Given the description of an element on the screen output the (x, y) to click on. 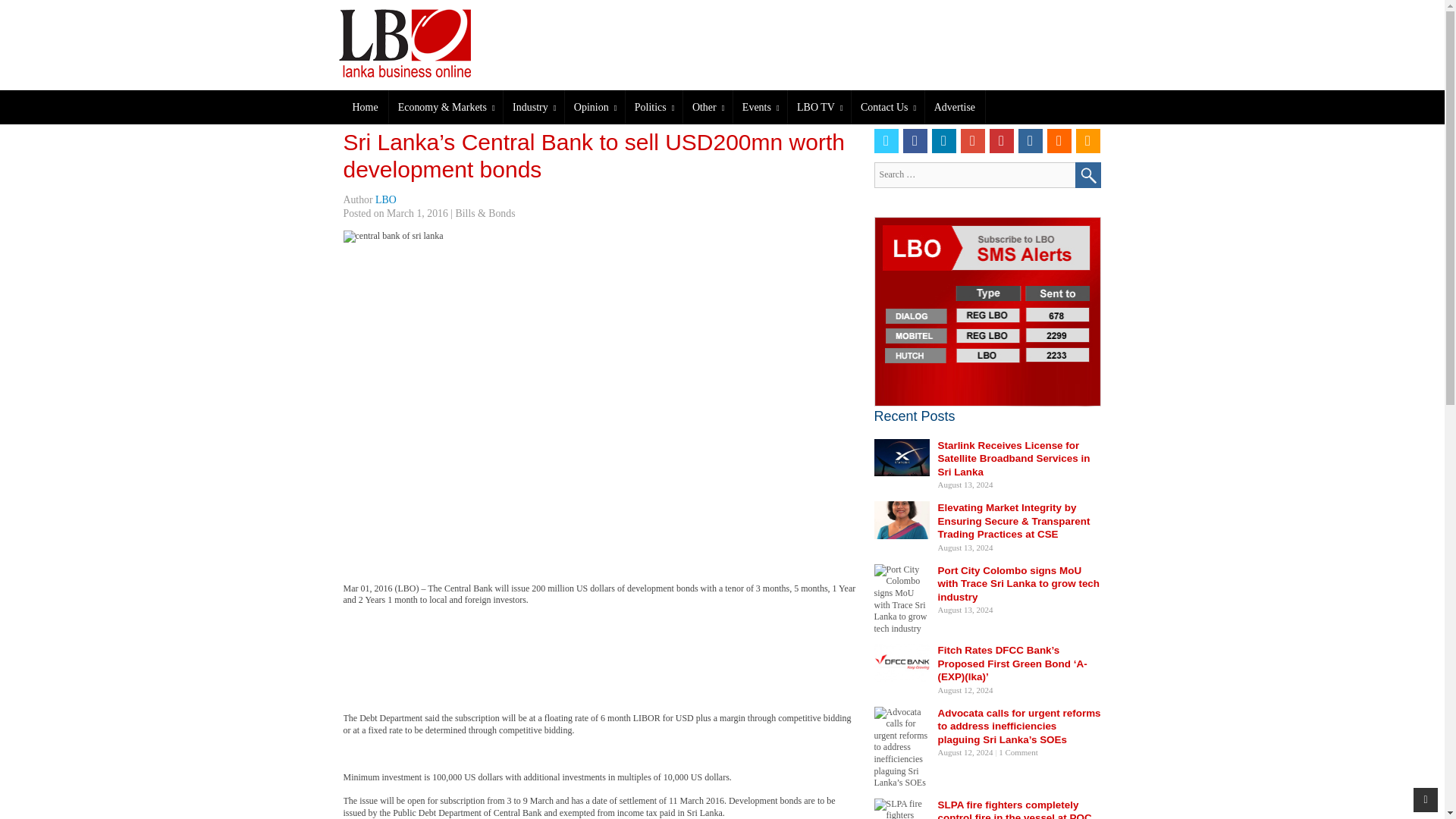
Politics (654, 107)
4:26 PM (417, 213)
View all posts by LBO (385, 199)
Other (707, 107)
Top (1425, 799)
Lanka Business Online (427, 42)
Search (1087, 175)
Industry (533, 107)
Lanka Business Online (414, 42)
Opinion (594, 107)
